Given the description of an element on the screen output the (x, y) to click on. 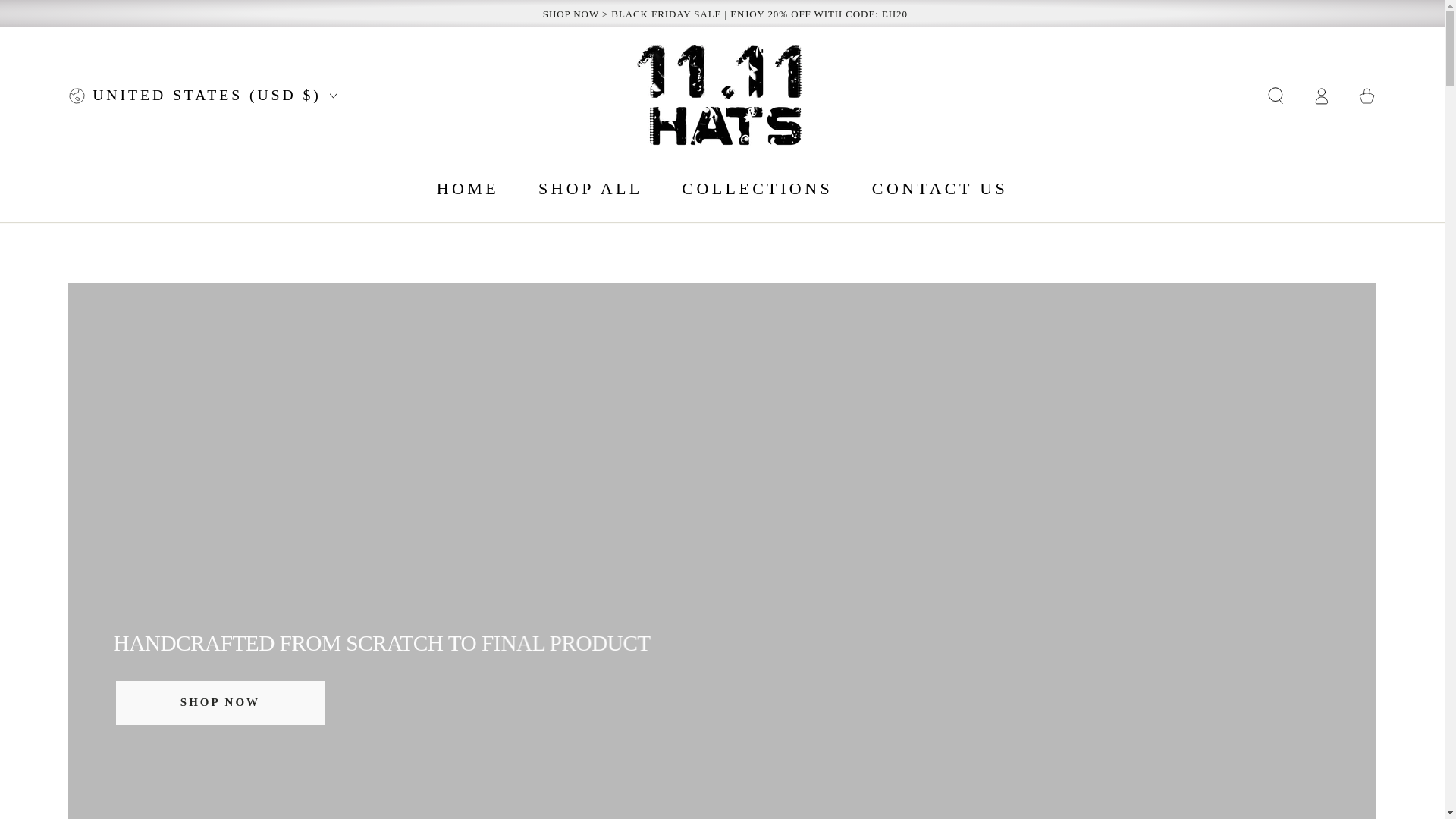
Log in Element type: text (1321, 95)
HOME Element type: text (467, 188)
SIGNATURE EDITION Element type: text (721, 651)
UNITED STATES (USD $) Element type: text (202, 95)
COLLECTIONS Element type: text (756, 188)
CONTACT US Element type: text (940, 188)
SHOP ALL Element type: text (590, 188)
